Given the description of an element on the screen output the (x, y) to click on. 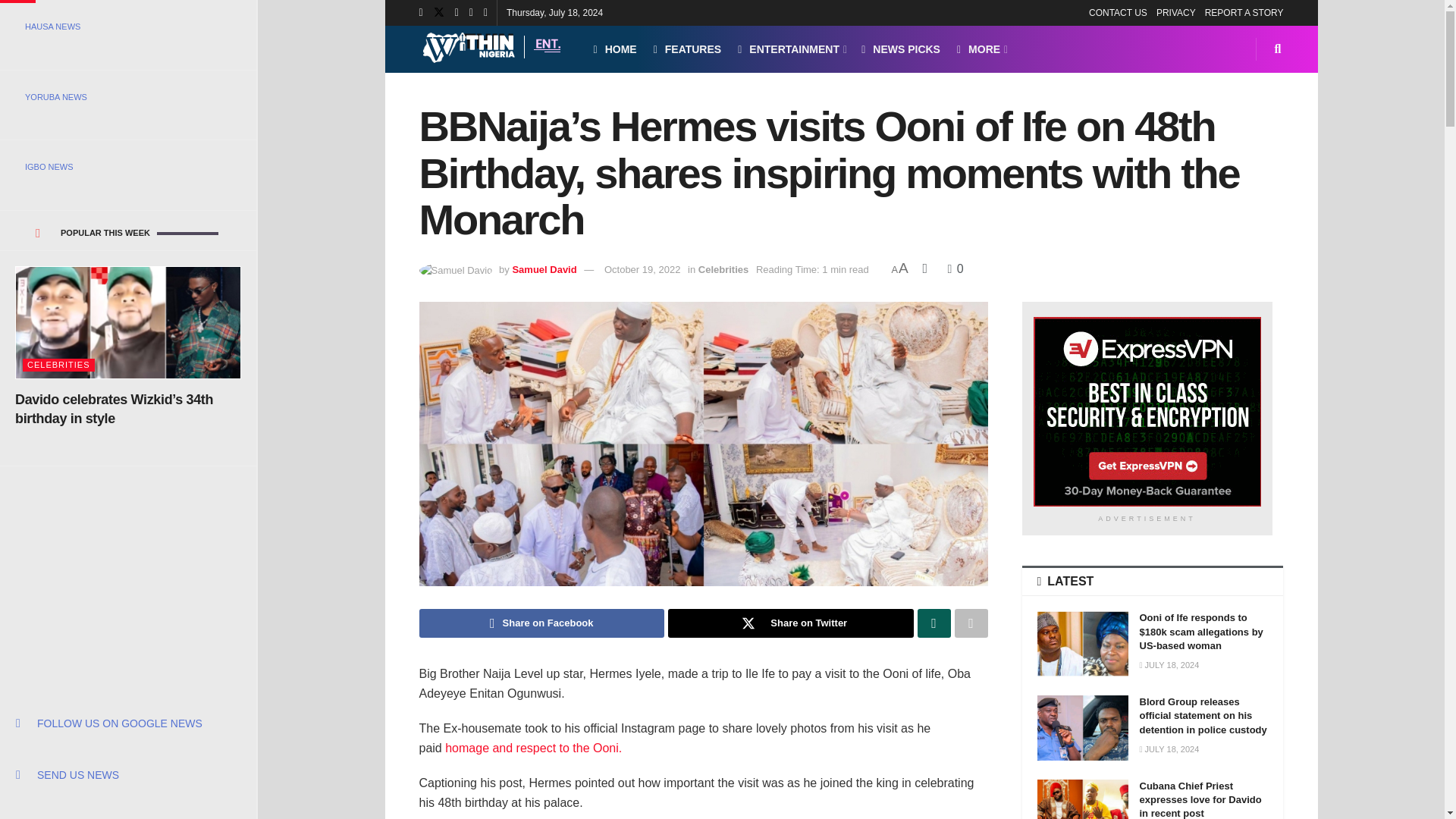
SEND US NEWS (128, 774)
CONTACT US (1118, 12)
HOME (614, 48)
HAUSA NEWS (127, 26)
Advertisement (128, 561)
IGBO NEWS (127, 166)
REPORT A STORY (1244, 12)
NEWS PICKS (900, 48)
FOLLOW US ON GOOGLE NEWS (128, 723)
MORE (981, 48)
ENTERTAINMENT (791, 48)
CELEBRITIES (58, 364)
IGBO NEWS (127, 166)
YORUBA NEWS (127, 96)
PRIVACY (1175, 12)
